Given the description of an element on the screen output the (x, y) to click on. 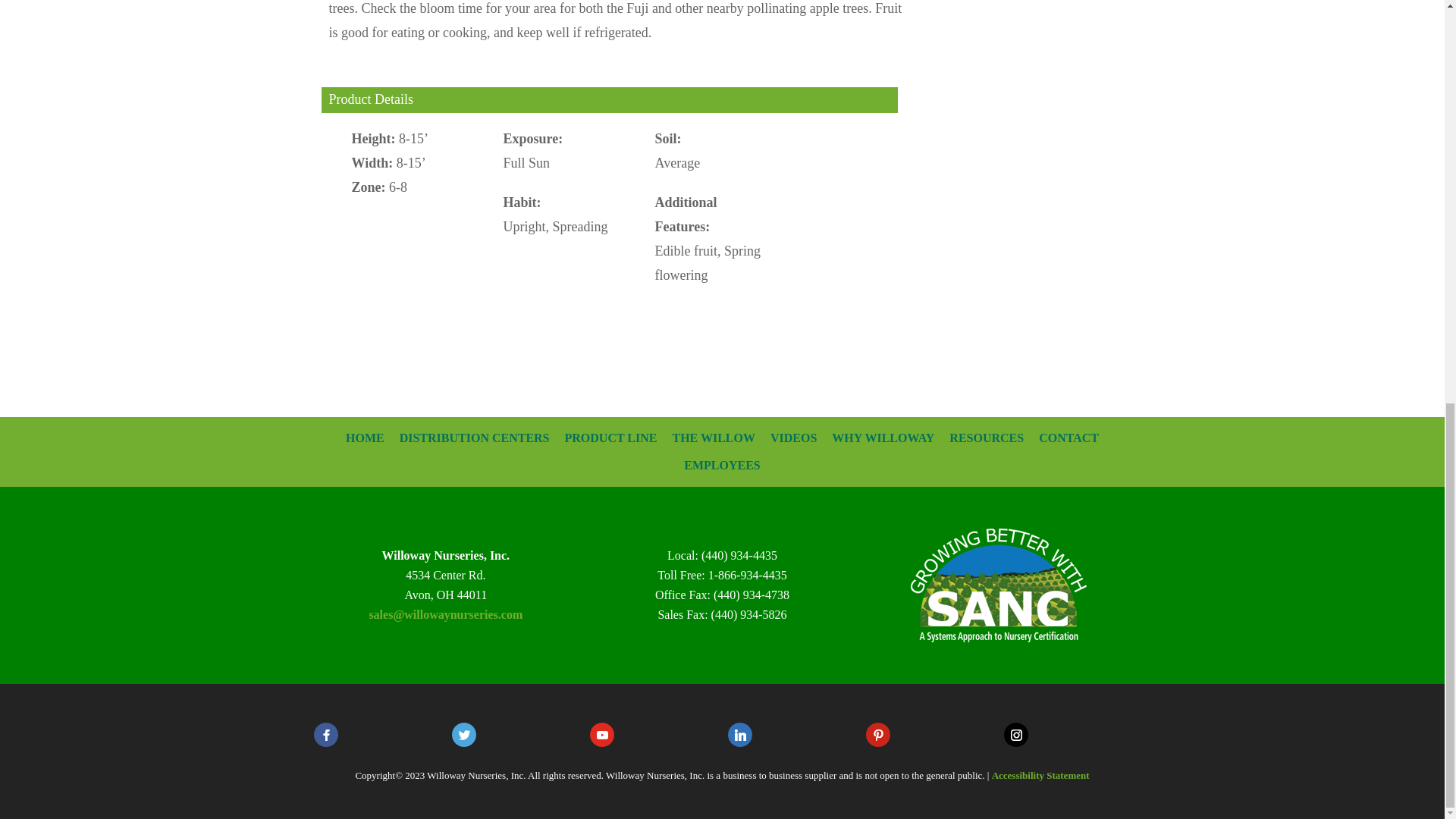
twitter (463, 734)
facebook (325, 734)
SANC (998, 585)
linkedin (740, 734)
instagram (1015, 734)
youtube (601, 734)
pinterest (877, 734)
